Given the description of an element on the screen output the (x, y) to click on. 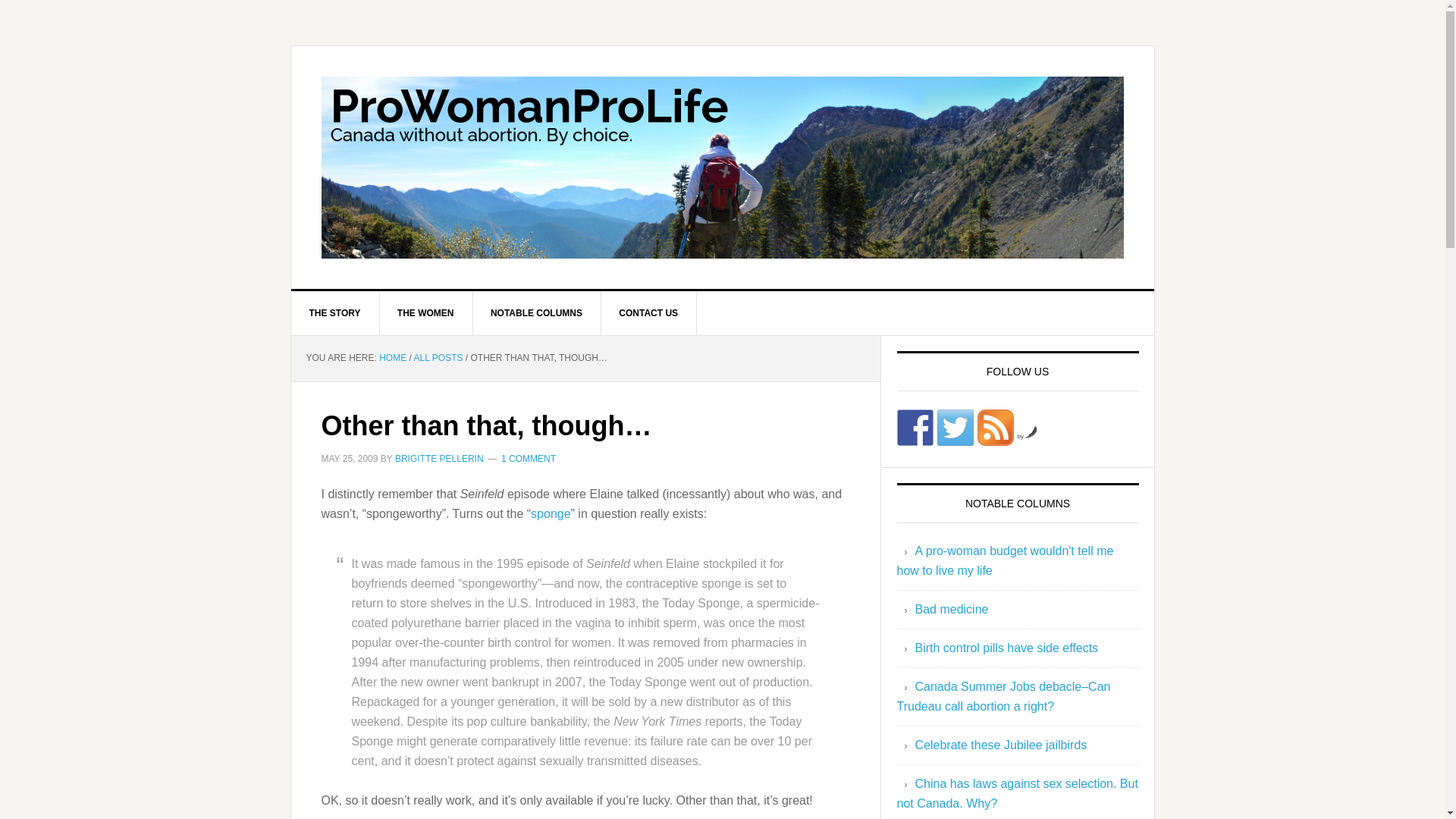
by (1027, 436)
BRIGITTE PELLERIN (438, 458)
Bad medicine (951, 608)
China has laws against sex selection. But not Canada. Why? (1016, 793)
THE STORY (335, 312)
ALL POSTS (438, 357)
HOME (392, 357)
NOTABLE COLUMNS (536, 312)
THE WOMEN (425, 312)
1 COMMENT (528, 458)
A pro-woman budget wouldn't tell me how to live my life (1004, 560)
Follow us on Facebook (914, 427)
Celebrate these Jubilee jailbirds (1000, 744)
sponge (550, 513)
